Given the description of an element on the screen output the (x, y) to click on. 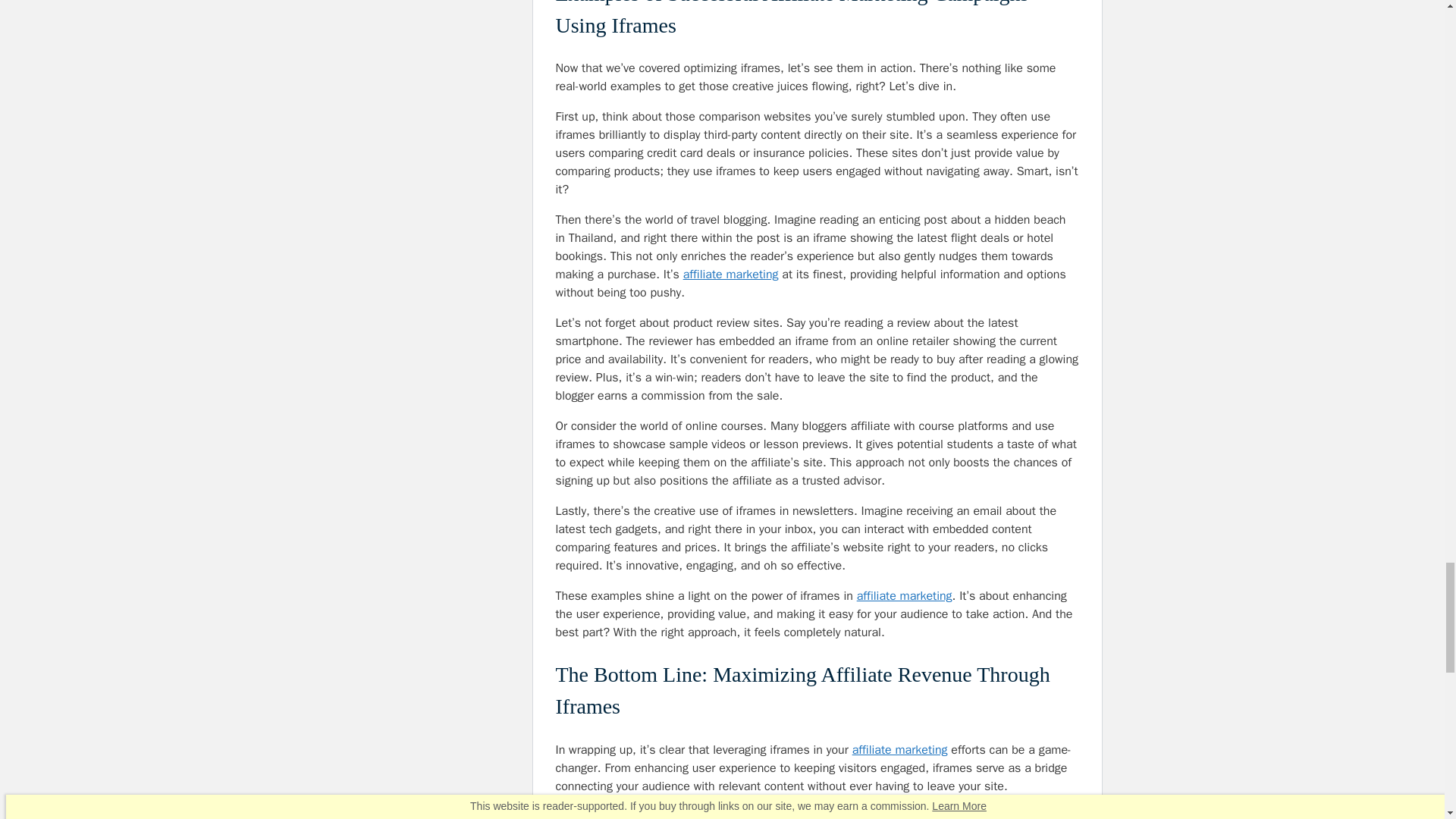
affiliate marketing (899, 749)
affiliate marketing (904, 595)
affiliate marketing (730, 273)
